Given the description of an element on the screen output the (x, y) to click on. 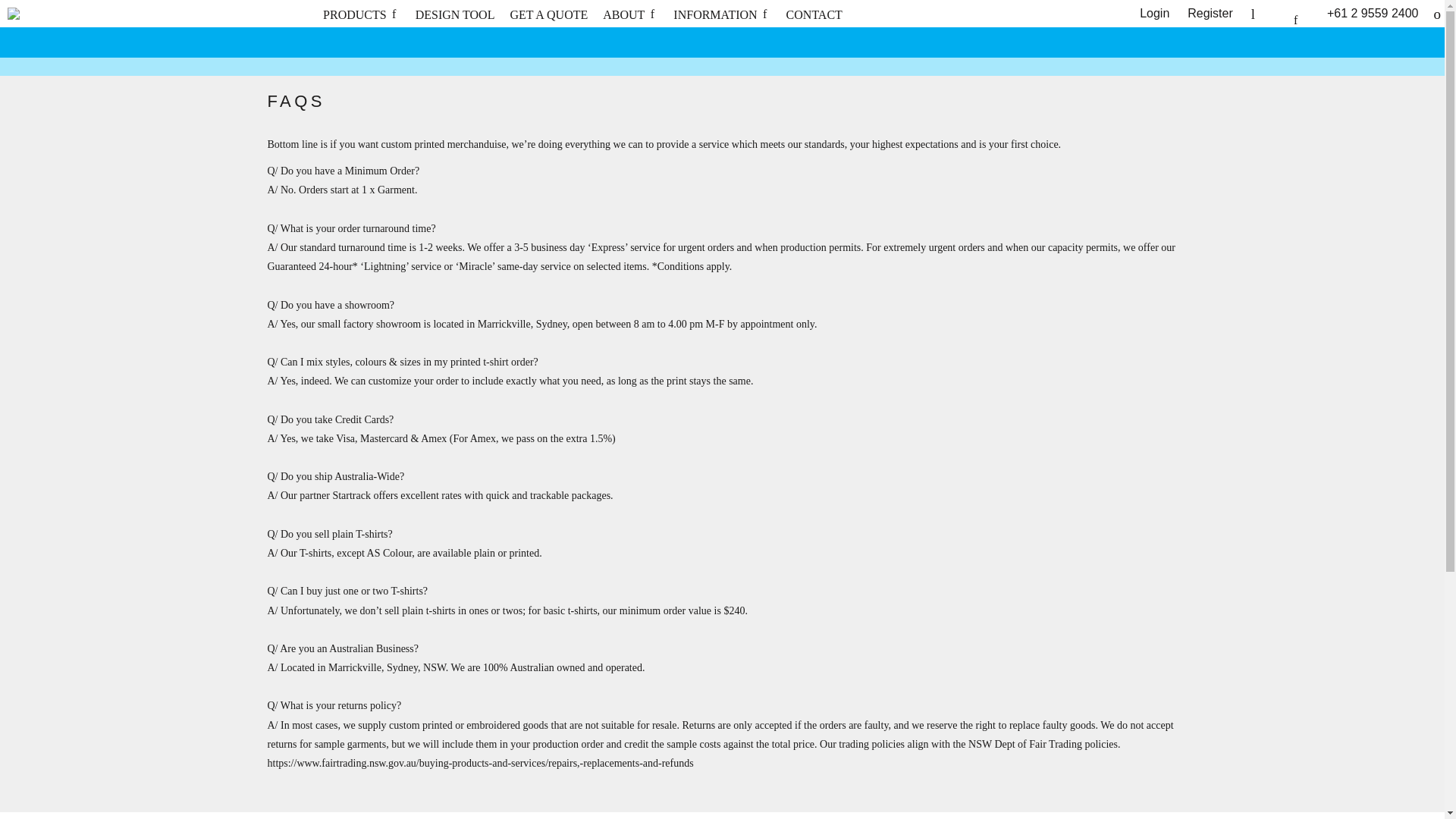
INFORMATION (721, 13)
Login (1154, 12)
CONTACT (814, 13)
DESIGN TOOL (454, 13)
ABOUT (630, 13)
GET A QUOTE (548, 13)
PRODUCTS (361, 13)
Register (1210, 12)
as (11, 7)
